Given the description of an element on the screen output the (x, y) to click on. 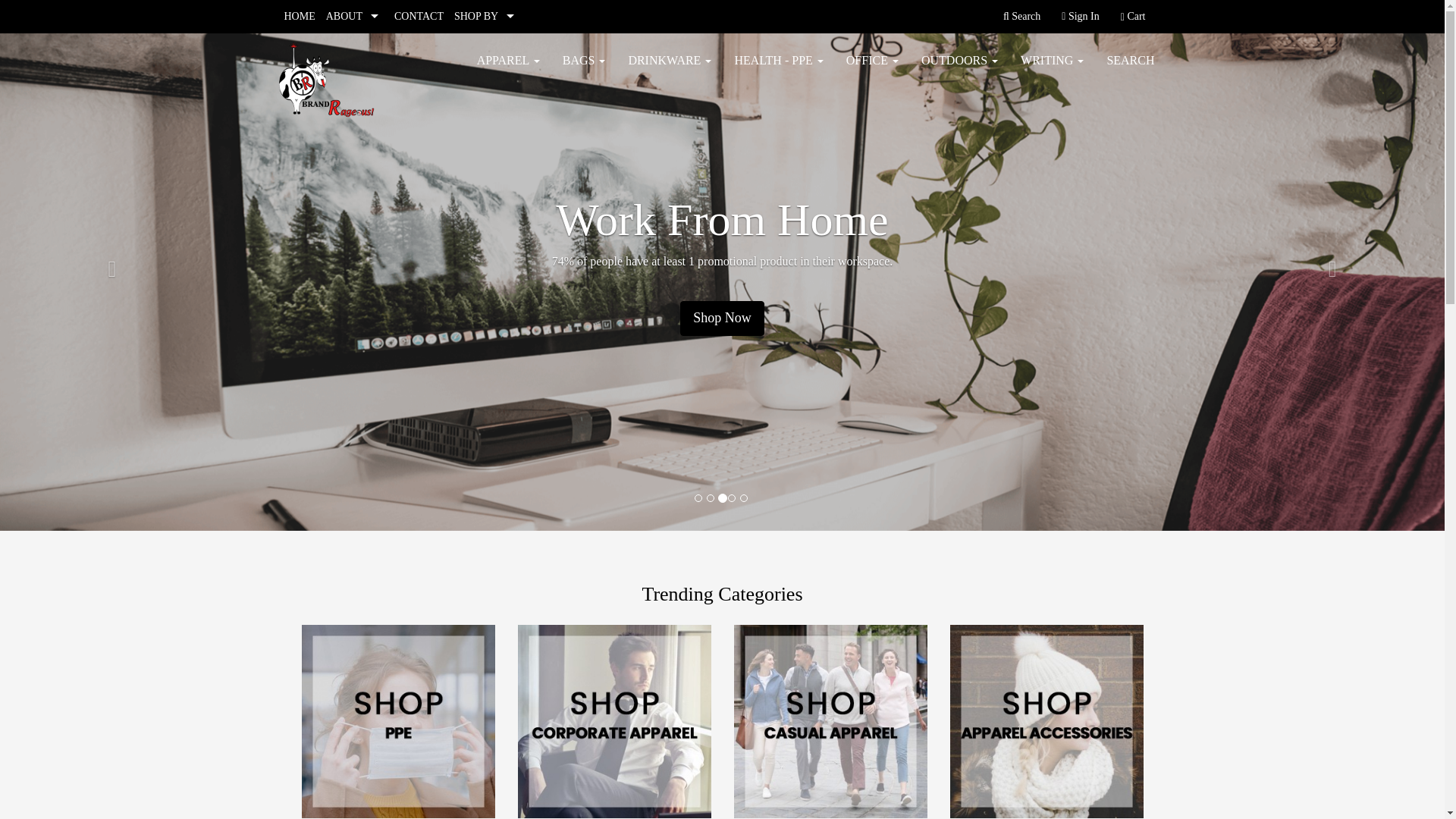
CONTACT (418, 16)
ABOUT (354, 16)
HOME (299, 16)
SHOP BY (486, 16)
